Given the description of an element on the screen output the (x, y) to click on. 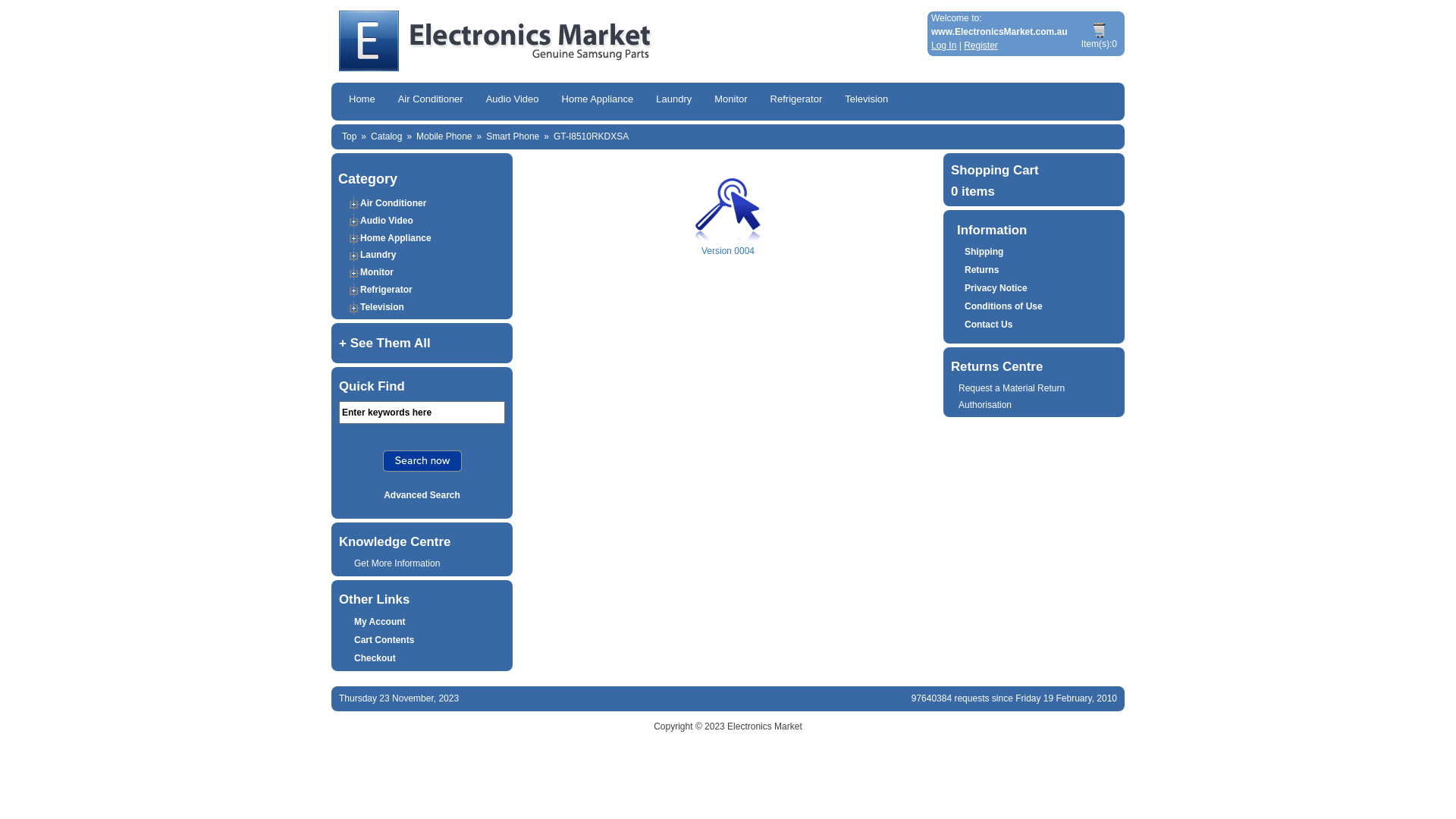
Smart Phone Element type: text (512, 136)
Shipping Element type: text (983, 251)
GT-I8510RKDXSA Element type: text (591, 136)
Home Appliance Element type: text (597, 99)
Catalog Element type: text (386, 136)
Shopping Cart Element type: text (994, 170)
Electronics Market Element type: text (764, 726)
Advanced Search Element type: text (421, 494)
Privacy Notice Element type: text (995, 287)
 Electronics Market  Element type: hover (626, 40)
Refrigerator Element type: text (386, 289)
Mobile Phone Element type: text (443, 136)
Audio Video Element type: text (512, 99)
Version 0004 Element type: text (727, 229)
Cart Contents Element type: text (384, 639)
Home Appliance Element type: text (395, 237)
 Quick Find  Element type: hover (422, 460)
 Cart Contents  Element type: hover (1098, 29)
 Version 0004  Element type: hover (727, 208)
Contact Us Element type: text (988, 324)
Get More Information Element type: text (396, 563)
Register Element type: text (980, 45)
+ See Them All Element type: text (421, 343)
Television Element type: text (382, 306)
Audio Video Element type: text (386, 220)
My Account Element type: text (379, 621)
Request a Material Return Authorisation Element type: text (1011, 396)
Category Element type: text (367, 178)
Returns Element type: text (981, 269)
Checkout Element type: text (374, 657)
Air Conditioner Element type: text (430, 99)
Air Conditioner Element type: text (393, 202)
Refrigerator Element type: text (796, 99)
Log In Element type: text (943, 45)
Monitor Element type: text (376, 271)
Laundry Element type: text (673, 99)
Conditions of Use Element type: text (1003, 306)
Television Element type: text (866, 99)
Home Element type: text (361, 99)
Top Element type: text (348, 136)
Laundry Element type: text (377, 254)
Monitor Element type: text (730, 99)
